Given the description of an element on the screen output the (x, y) to click on. 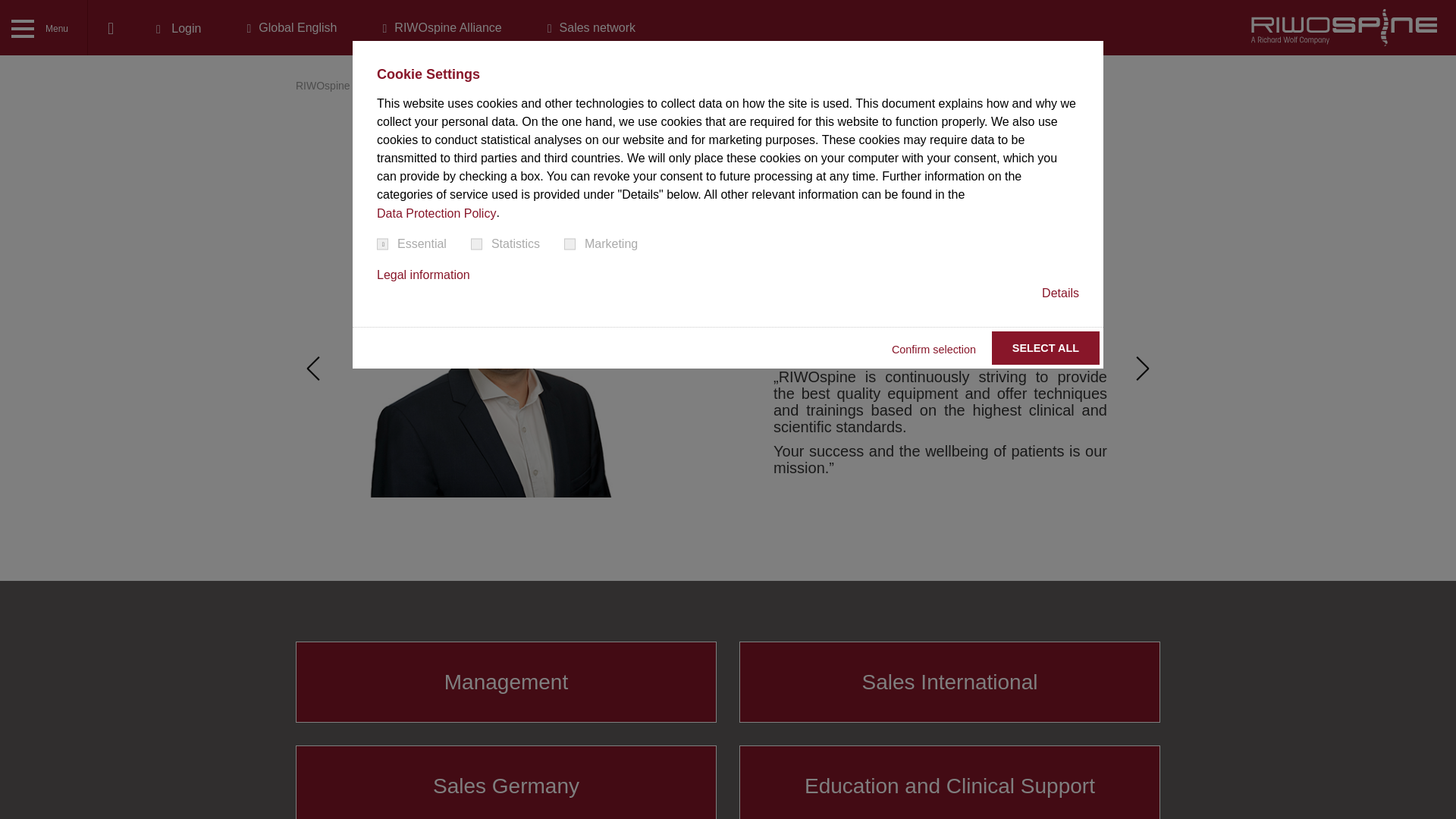
Legal information (423, 275)
SELECT ALL (1045, 347)
Data Protection Policy (436, 213)
Confirm selection (932, 349)
Details (1060, 293)
